Given the description of an element on the screen output the (x, y) to click on. 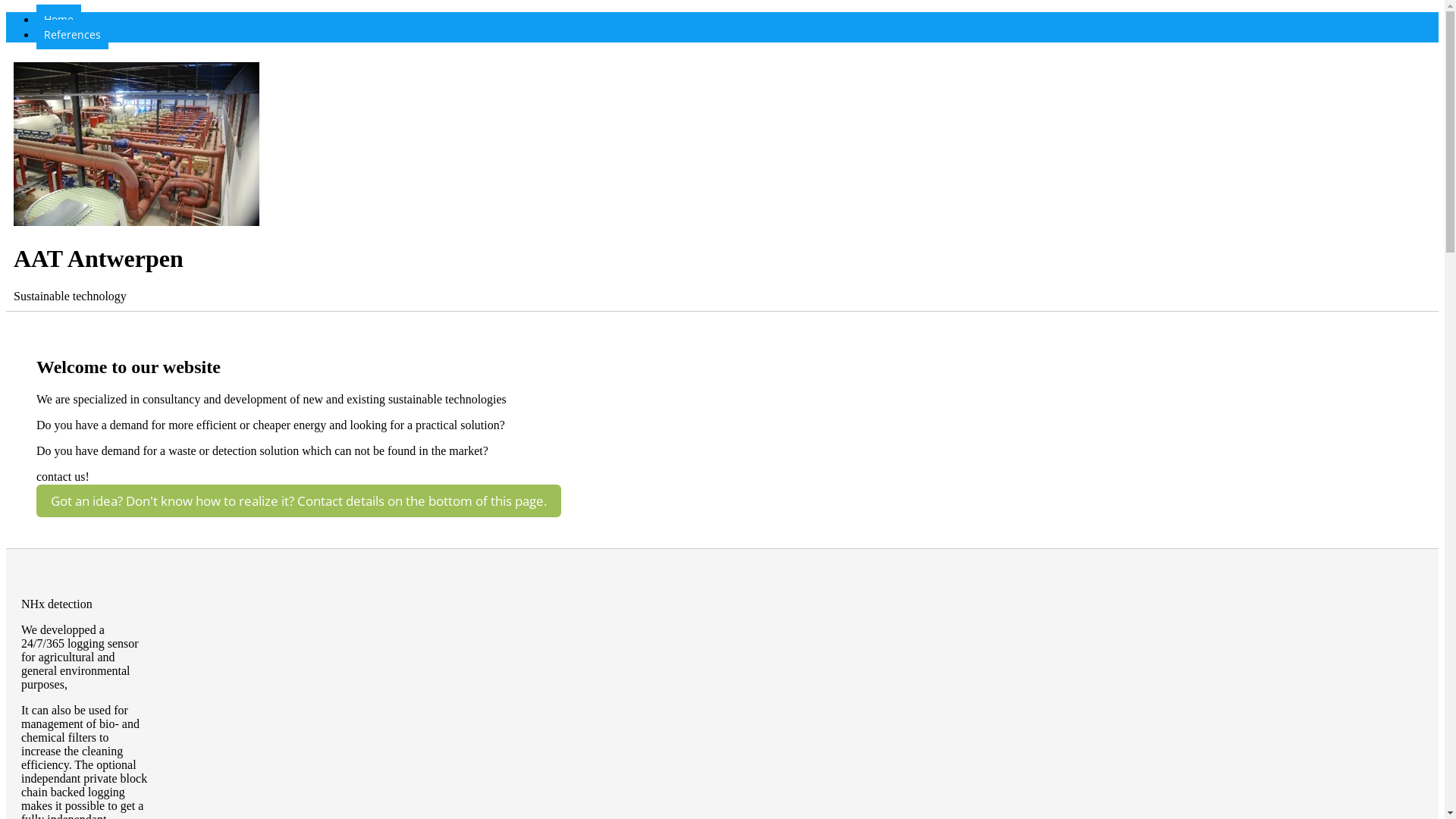
References Element type: text (72, 34)
Home Element type: text (58, 19)
